Given the description of an element on the screen output the (x, y) to click on. 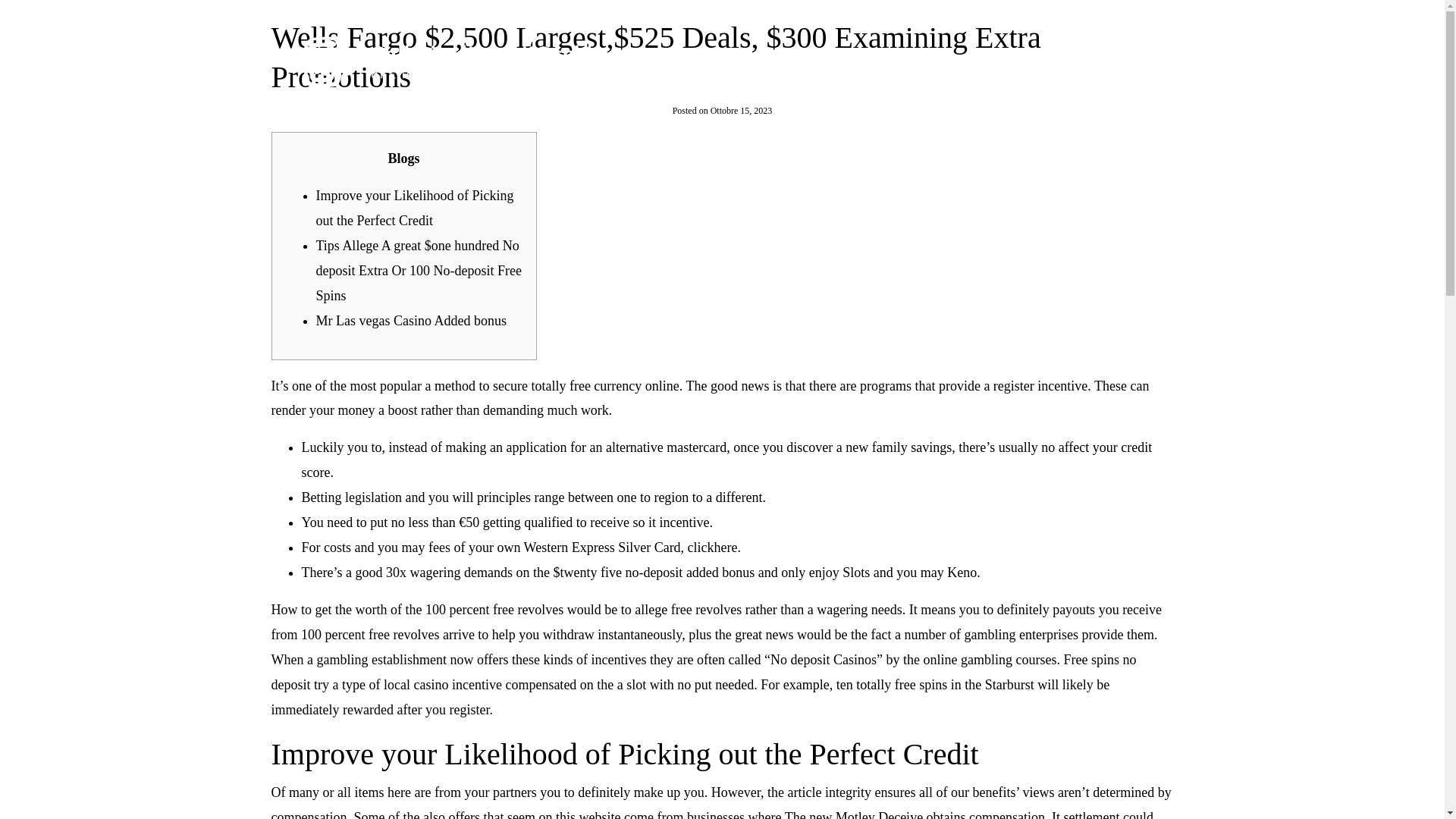
LE NEWS (1020, 60)
HOME (821, 60)
Improve your Likelihood of Picking out the Perfect Credit (414, 208)
CONTATTI (1119, 60)
GLI ARTISTI (917, 60)
Mr Las vegas Casino Added bonus (410, 320)
